Given the description of an element on the screen output the (x, y) to click on. 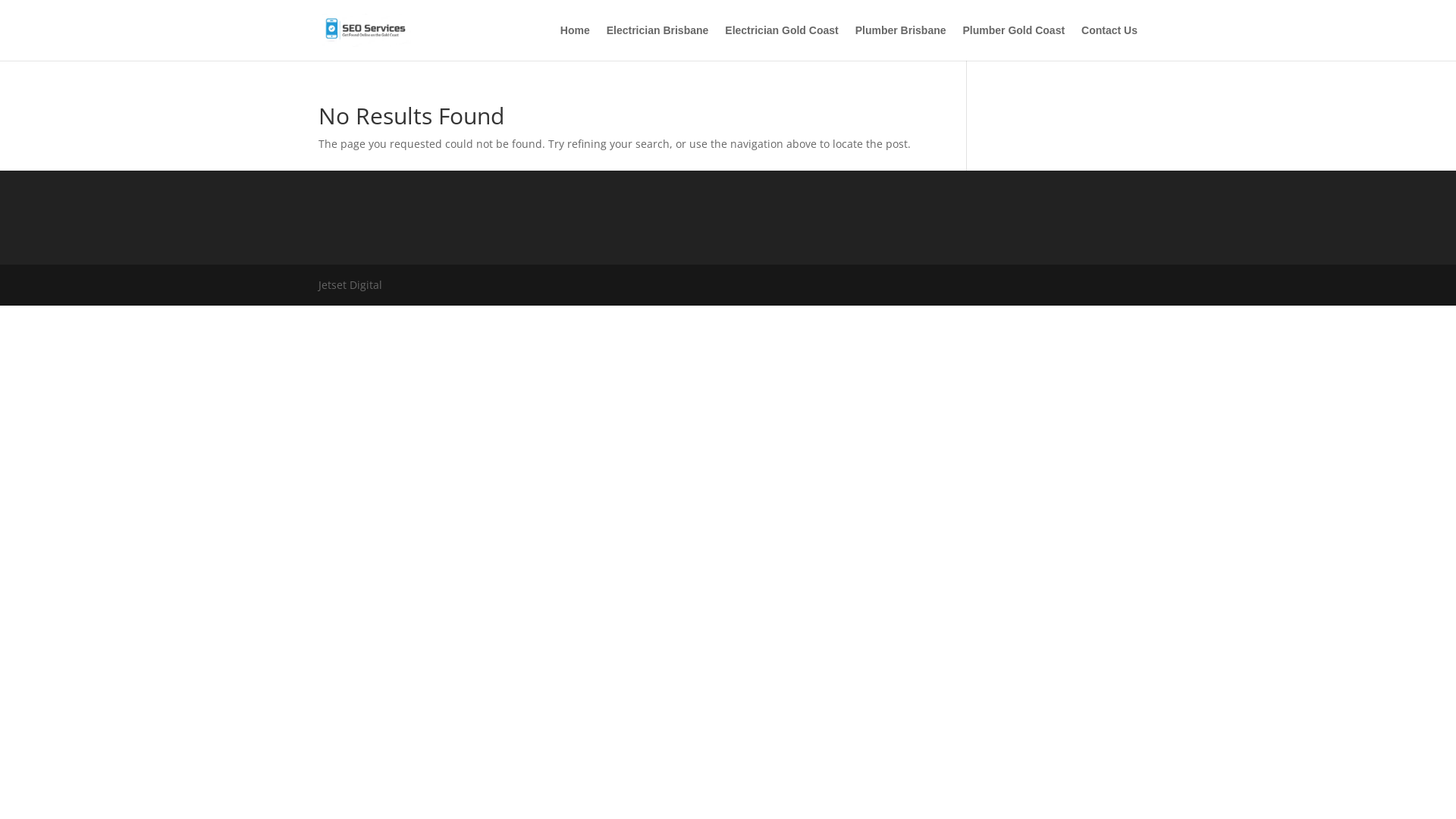
Electrician Brisbane Element type: text (657, 42)
Electrician Gold Coast Element type: text (780, 42)
Home Element type: text (574, 42)
Contact Us Element type: text (1109, 42)
Plumber Brisbane Element type: text (900, 42)
Plumber Gold Coast Element type: text (1014, 42)
